Given the description of an element on the screen output the (x, y) to click on. 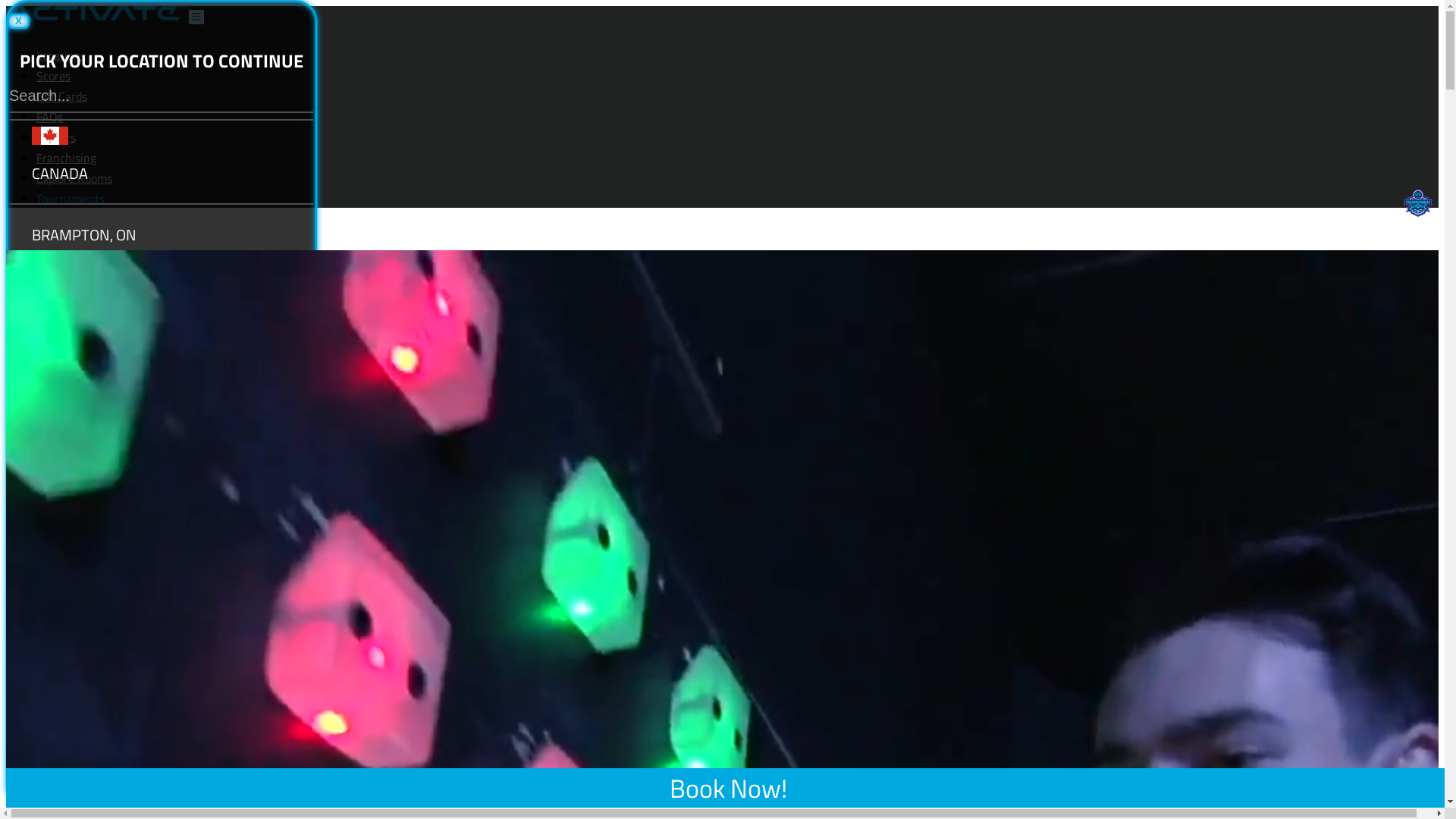
CALGARY SOUTH WEST, AB Element type: text (161, 418)
Explore Rooms Element type: text (74, 178)
SCARBOROUGH, ON Element type: text (161, 603)
CALGARY NORTH, AB Element type: text (161, 357)
BRAMPTON, ON Element type: text (161, 234)
Gift Cards Element type: text (61, 96)
HALIFAX, NS Element type: text (161, 541)
EDMONTON SOUTH, AB Element type: text (161, 480)
Franchising Element type: text (66, 157)
WINNIPEG EAST, MB Element type: text (161, 664)
Locations Element type: text (60, 55)
Scores Element type: text (53, 75)
Careers Element type: text (55, 137)
Tournaments Element type: text (737, 198)
BURLINGTON, ON Element type: text (161, 296)
X Element type: text (18, 20)
FAQs Element type: text (49, 116)
Book Now! Element type: text (728, 787)
WINNIPEG WEST, MB Element type: text (161, 725)
